Given the description of an element on the screen output the (x, y) to click on. 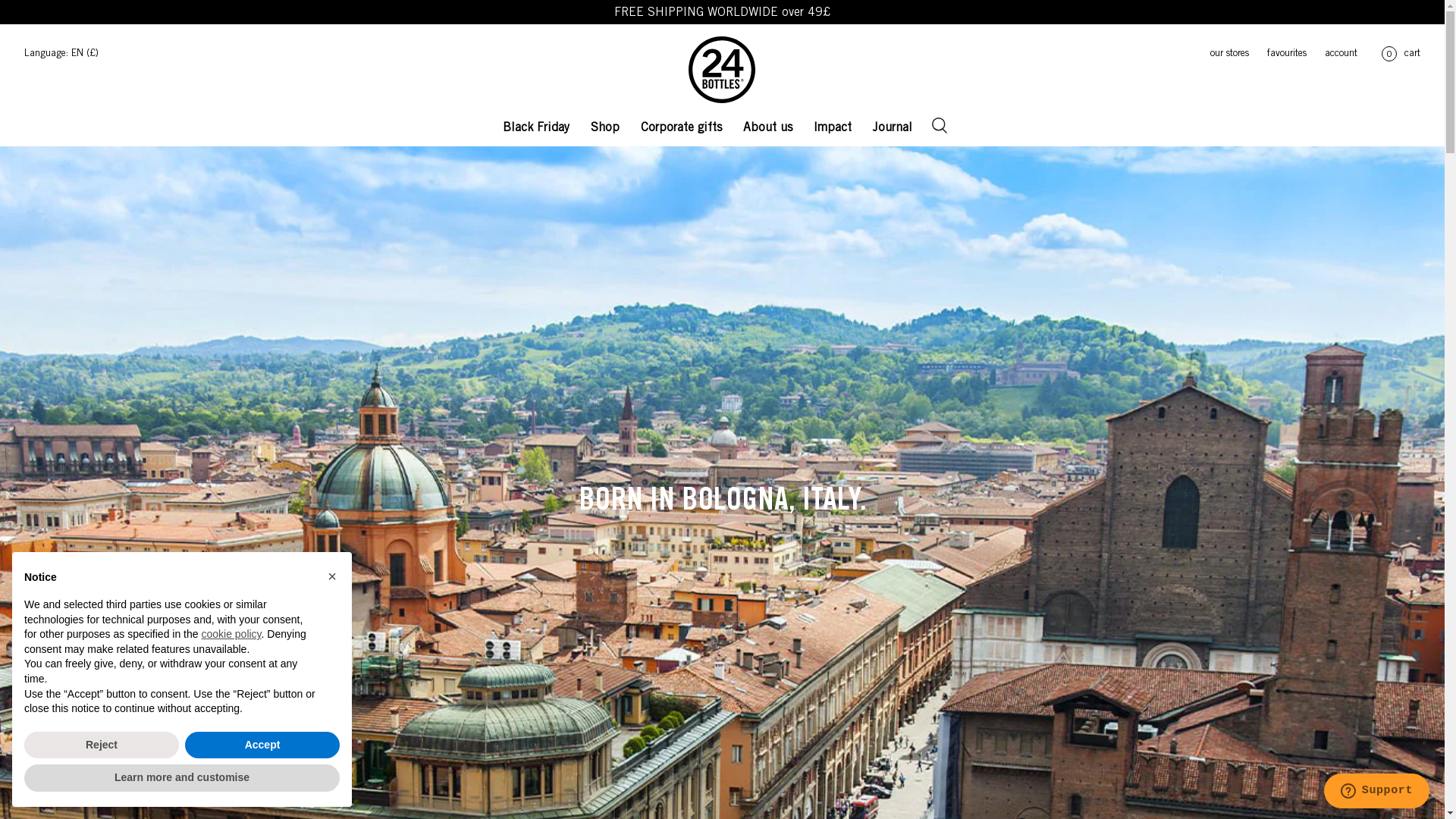
favourites Element type: text (1277, 54)
Opens a widget where you can find more information Element type: hover (1376, 792)
Shop Element type: text (604, 124)
account Element type: text (1331, 54)
cookie policy Element type: text (230, 633)
Impact Element type: text (832, 124)
Journal Element type: text (892, 124)
About us Element type: text (767, 124)
Learn more and customise Element type: text (181, 777)
0
cart Element type: text (1397, 54)
Corporate gifts Element type: text (680, 124)
Accept Element type: text (262, 745)
Black Friday Element type: text (535, 124)
our stores Element type: text (1220, 54)
Reject Element type: text (101, 745)
